Given the description of an element on the screen output the (x, y) to click on. 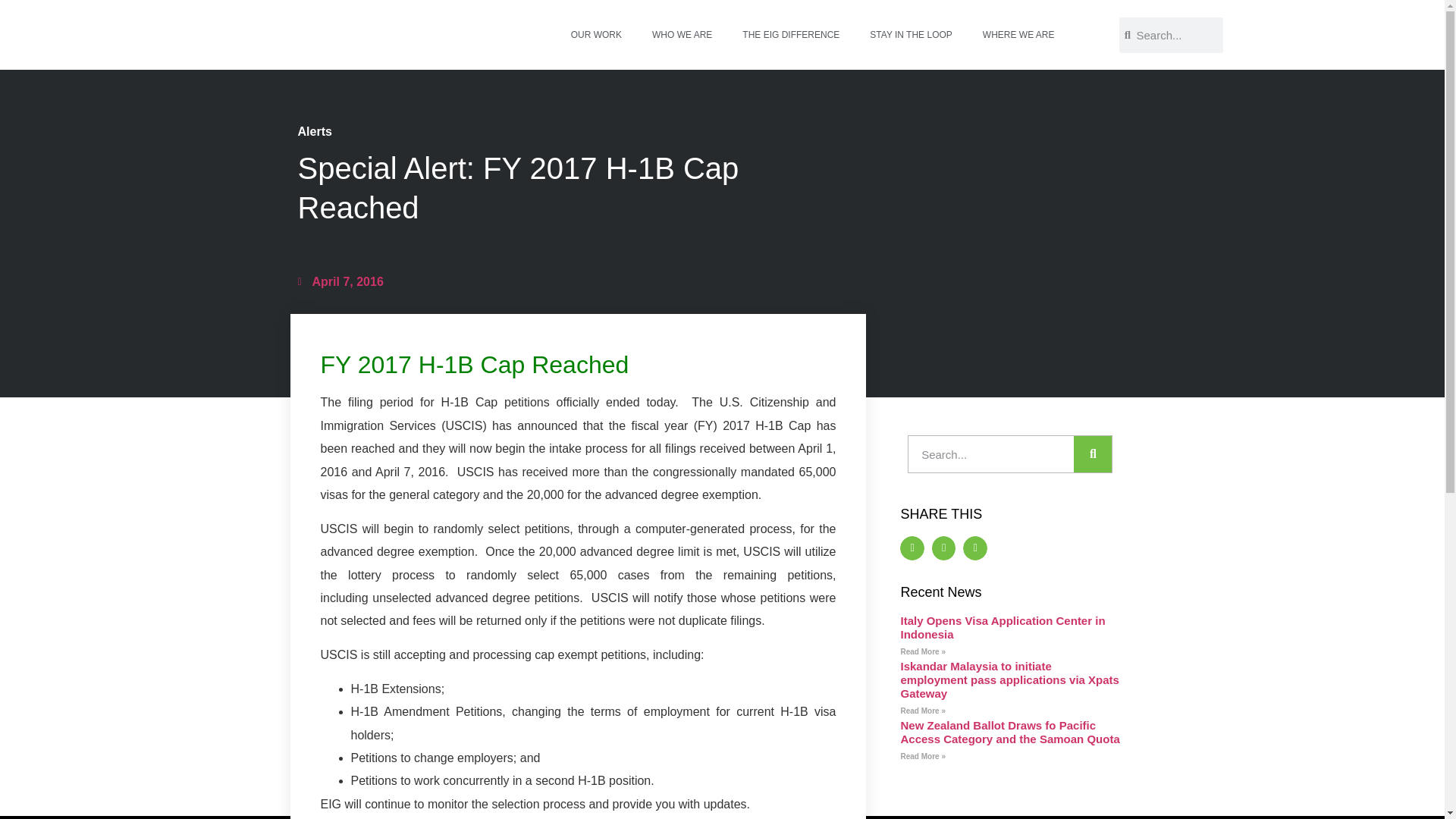
THE EIG DIFFERENCE (790, 34)
WHERE WE ARE (1019, 34)
STAY IN THE LOOP (910, 34)
OUR WORK (596, 34)
WHO WE ARE (681, 34)
